Given the description of an element on the screen output the (x, y) to click on. 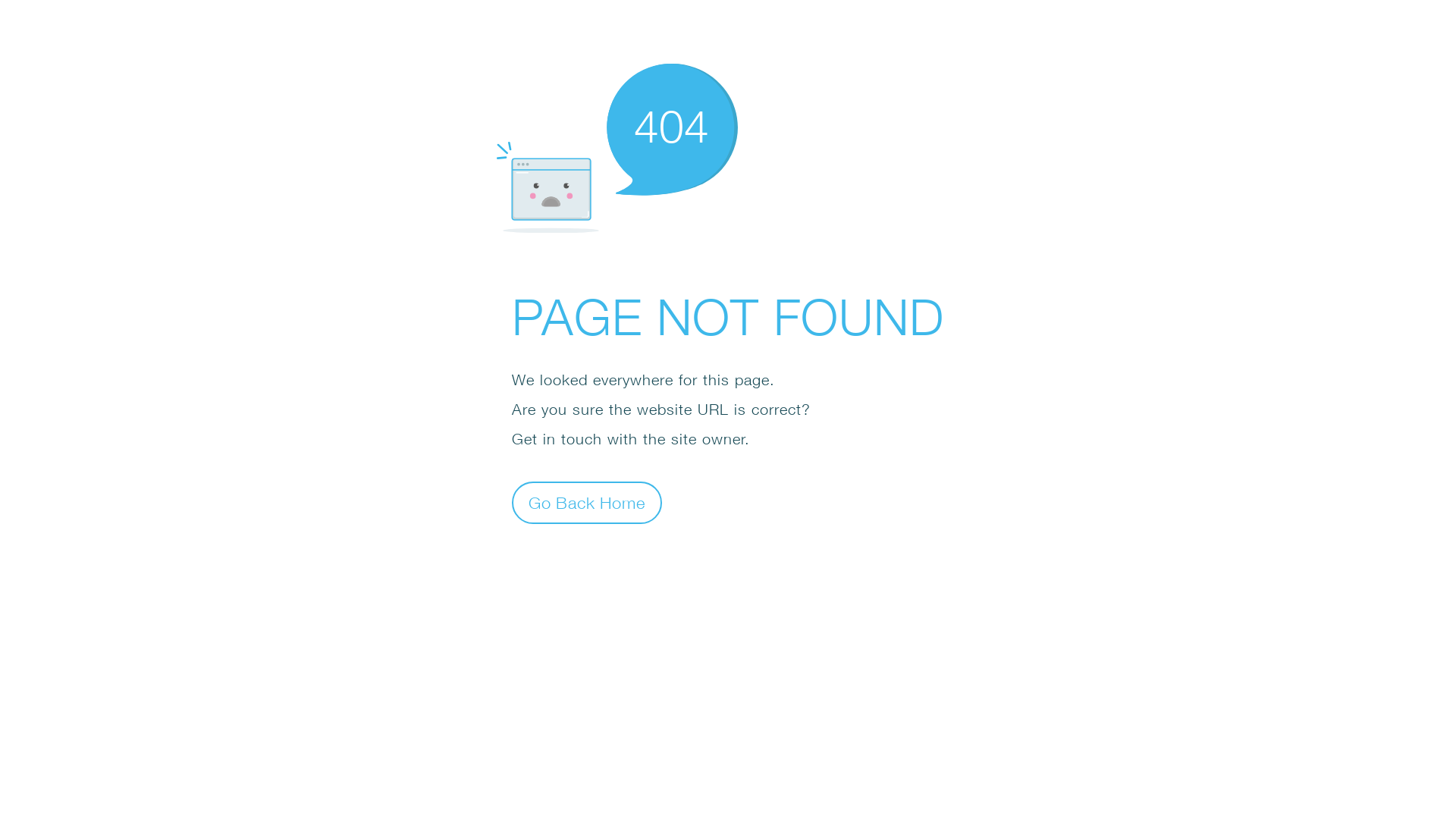
Go Back Home Element type: text (586, 502)
